Given the description of an element on the screen output the (x, y) to click on. 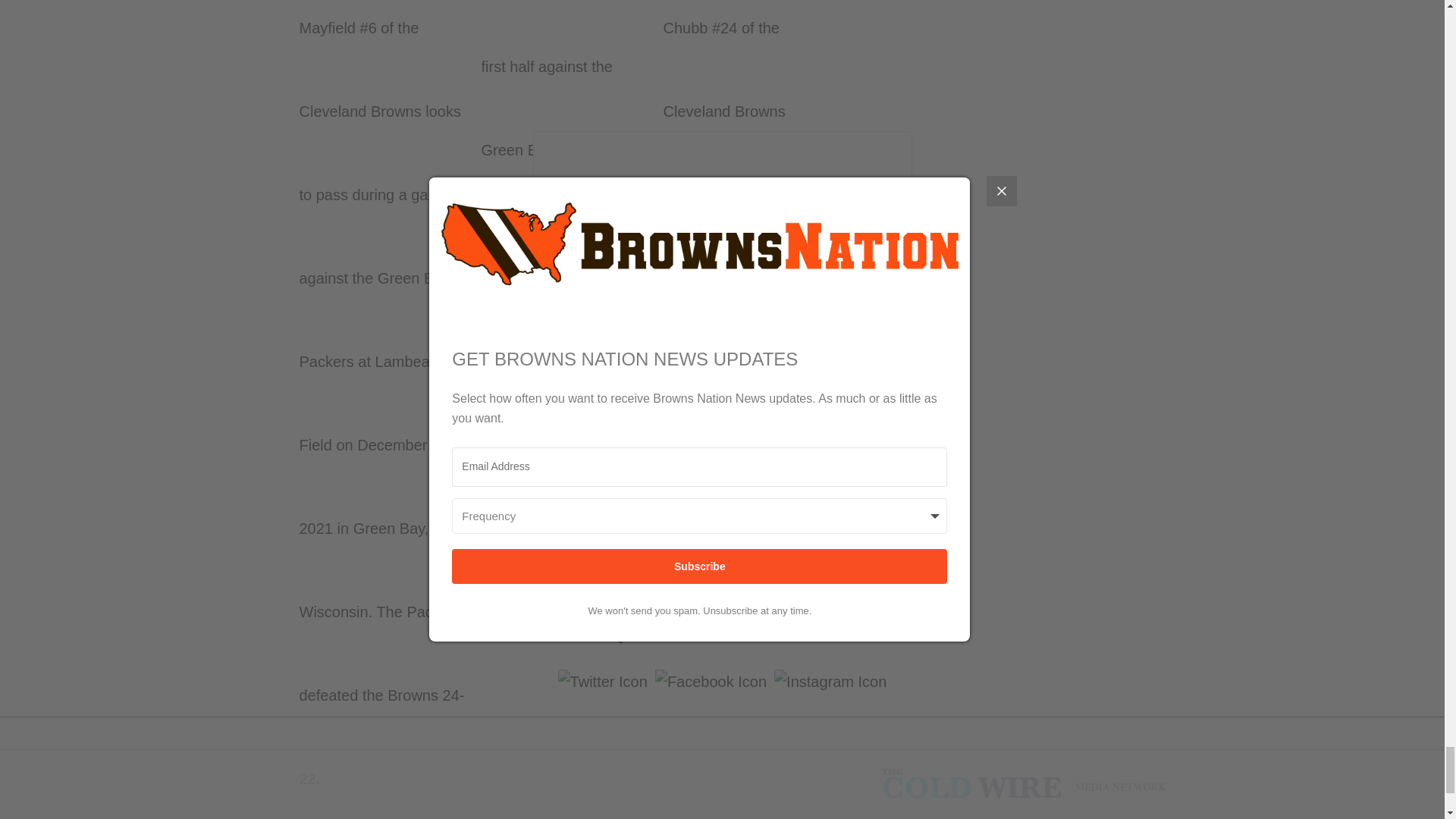
Browns Nation (1022, 784)
